Given the description of an element on the screen output the (x, y) to click on. 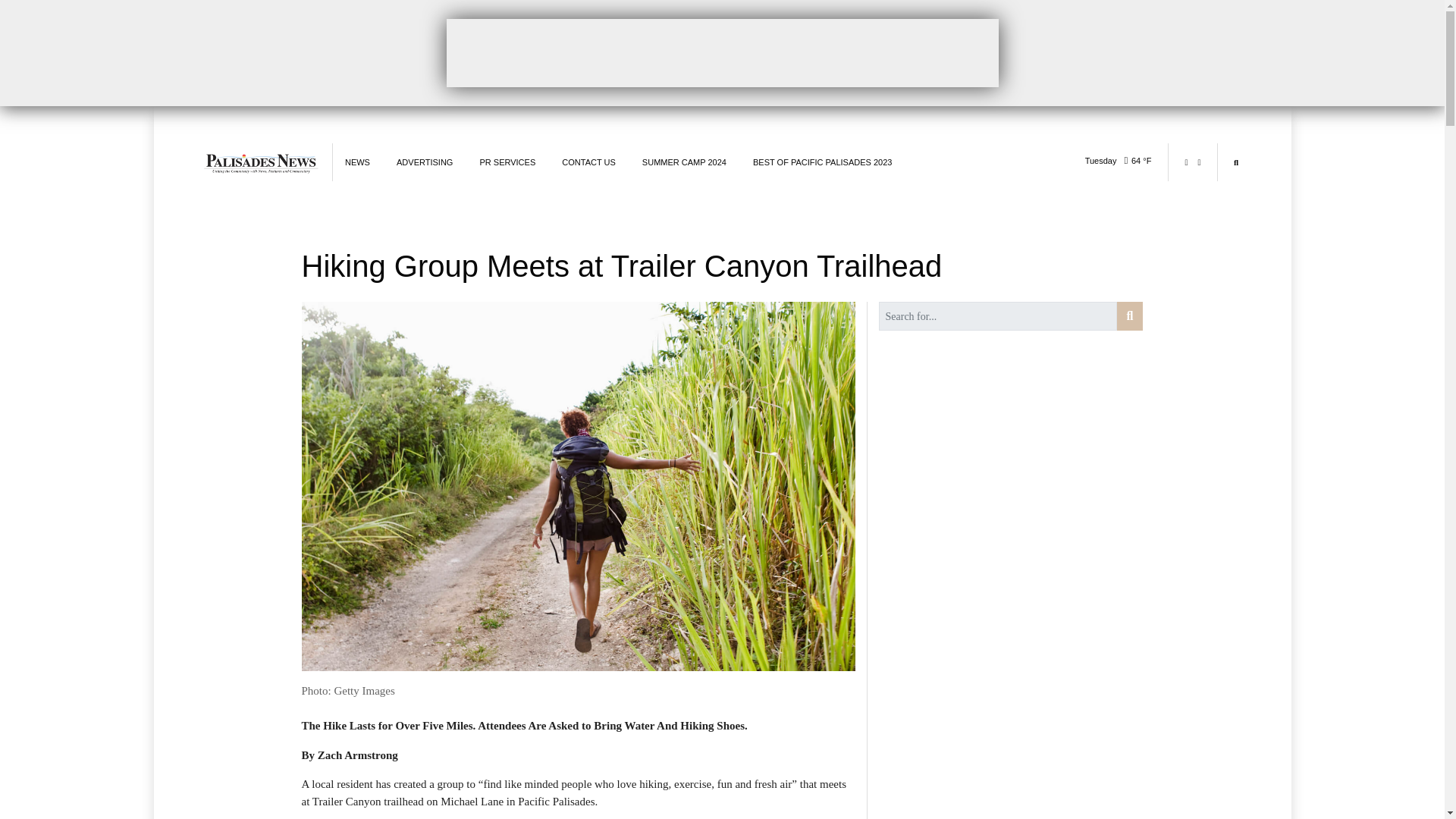
SUMMER CAMP 2024 (684, 161)
ADVERTISING (424, 161)
CONTACT US (588, 161)
BEST OF PACIFIC PALISADES 2023 (821, 161)
PR SERVICES (507, 161)
3rd party ad content (721, 52)
